Given the description of an element on the screen output the (x, y) to click on. 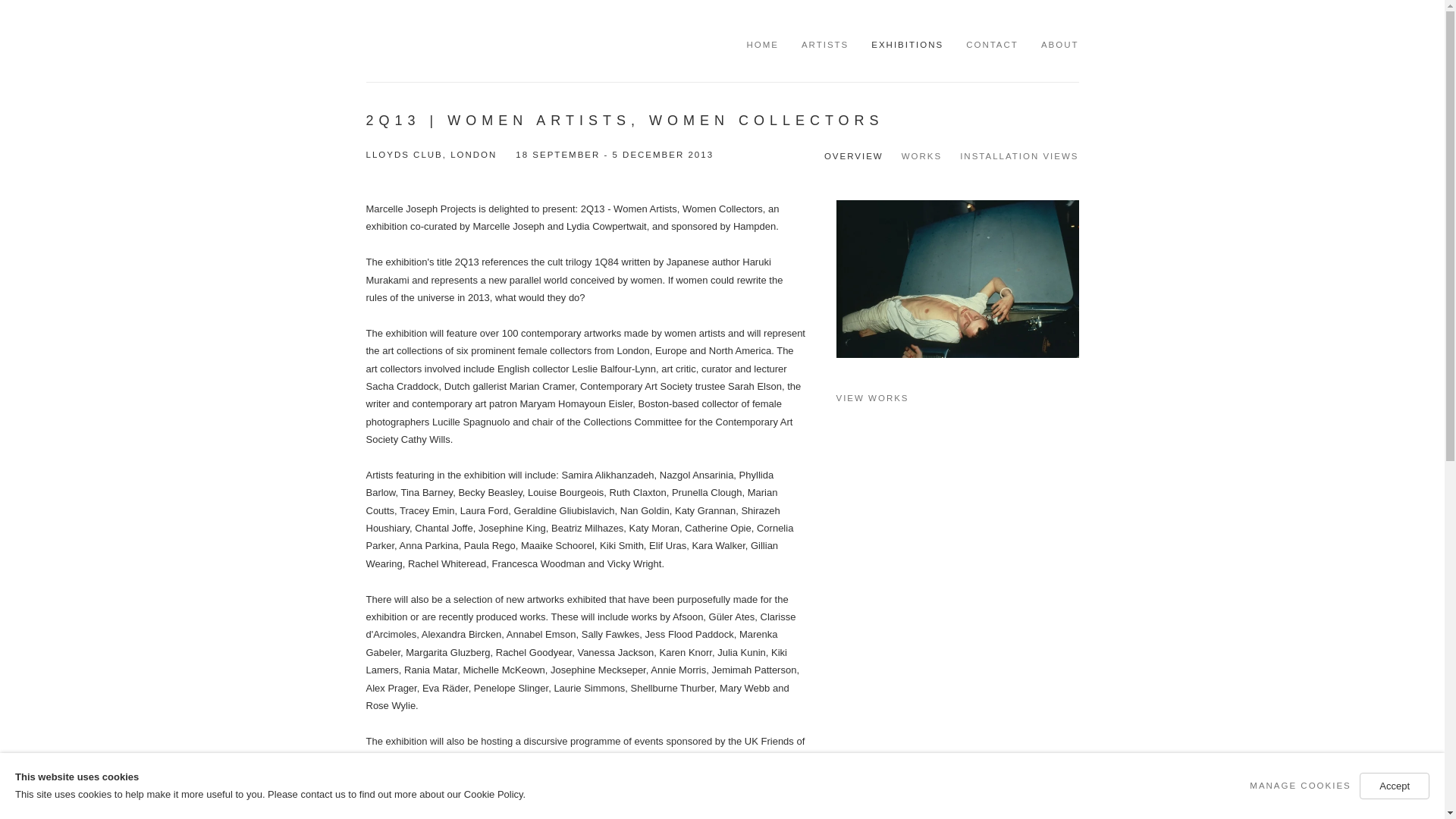
MARCELLE JOSEPH PROJECTS (486, 42)
ARTISTS (825, 44)
INSTALLATION VIEWS (1018, 155)
ABOUT (1059, 44)
OVERVIEW (853, 155)
HOME (761, 44)
VIEW WORKS (956, 398)
EXHIBITIONS (906, 44)
WORKS (921, 155)
CONTACT (991, 44)
